Given the description of an element on the screen output the (x, y) to click on. 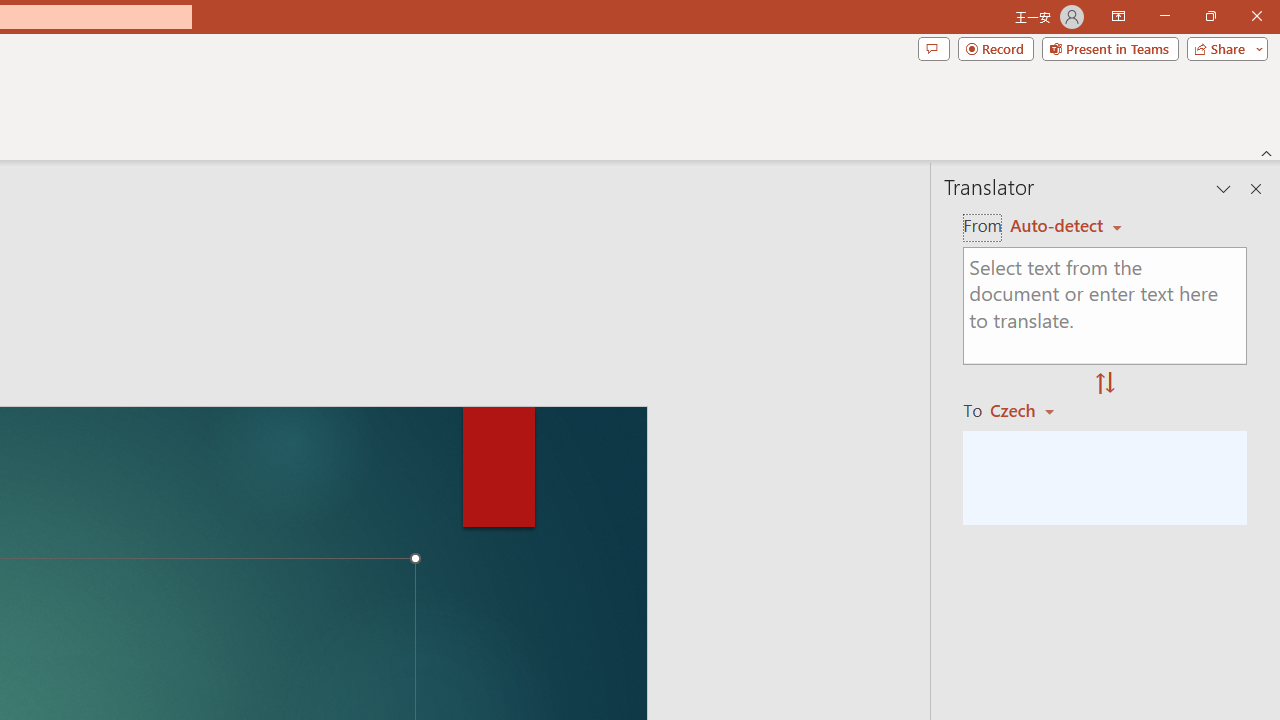
Swap "from" and "to" languages. (1105, 383)
Close (1256, 16)
Auto-detect (1066, 225)
Task Pane Options (1224, 188)
Collapse the Ribbon (1267, 152)
Ribbon Display Options (1118, 16)
Share (1223, 48)
Restore Down (1210, 16)
Comments (933, 48)
Present in Teams (1109, 48)
Czech (1030, 409)
